Given the description of an element on the screen output the (x, y) to click on. 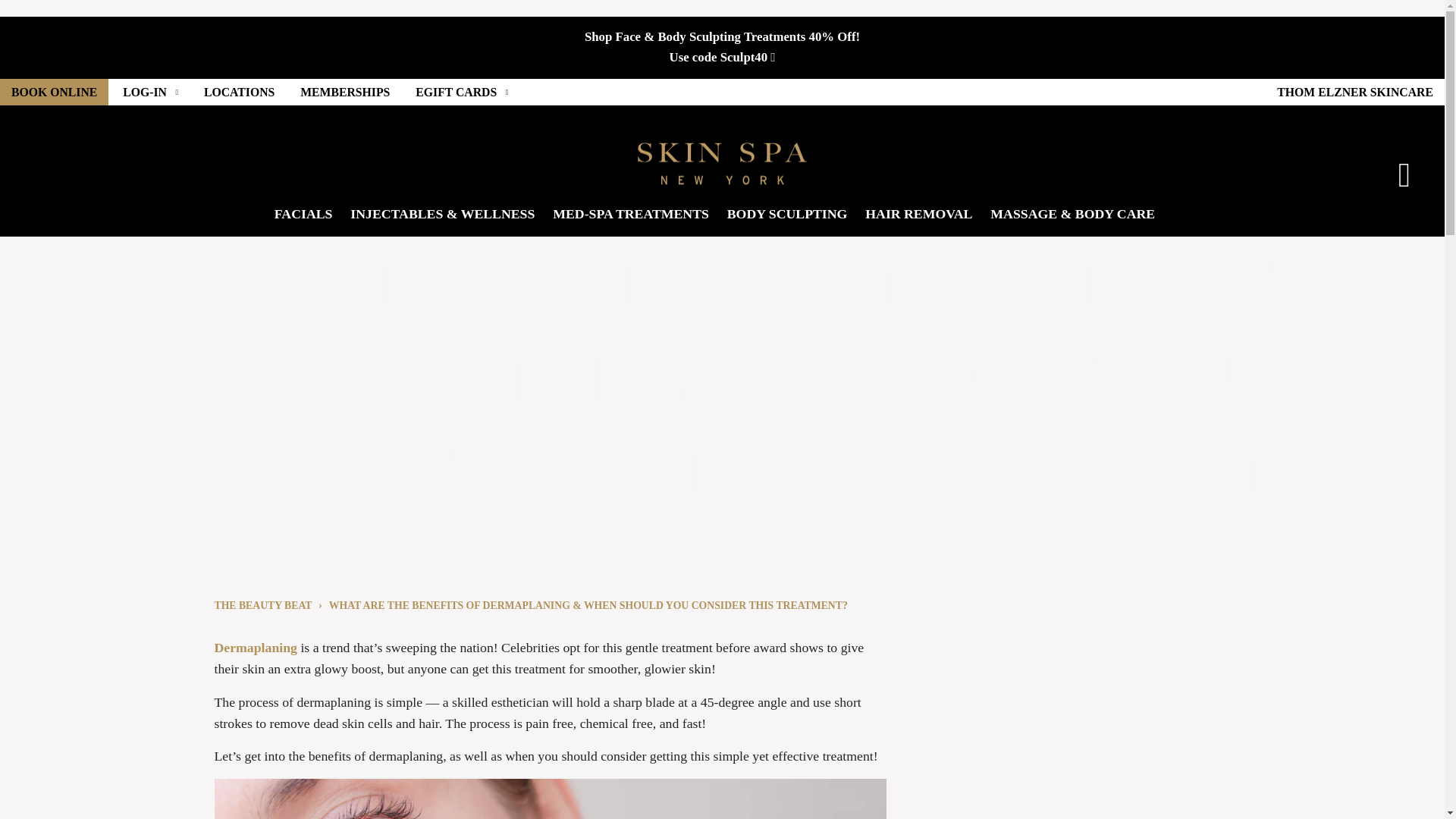
Body Sculpting (722, 36)
Body Sculpting (722, 56)
